Given the description of an element on the screen output the (x, y) to click on. 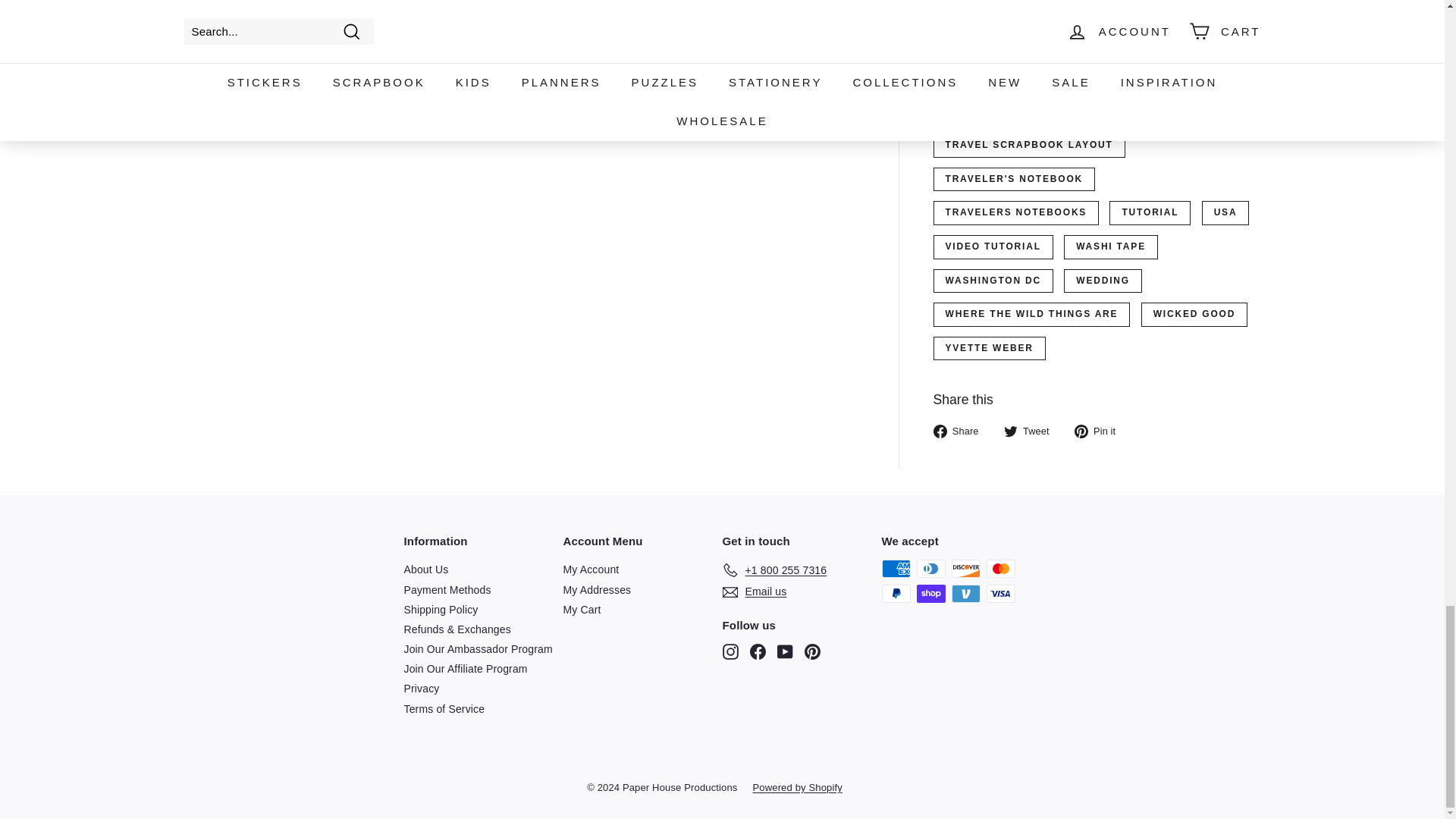
Shop Pay (929, 593)
Discover (964, 568)
Diners Club (929, 568)
PayPal (895, 593)
American Express (895, 568)
Mastercard (999, 568)
Venmo (964, 593)
